Given the description of an element on the screen output the (x, y) to click on. 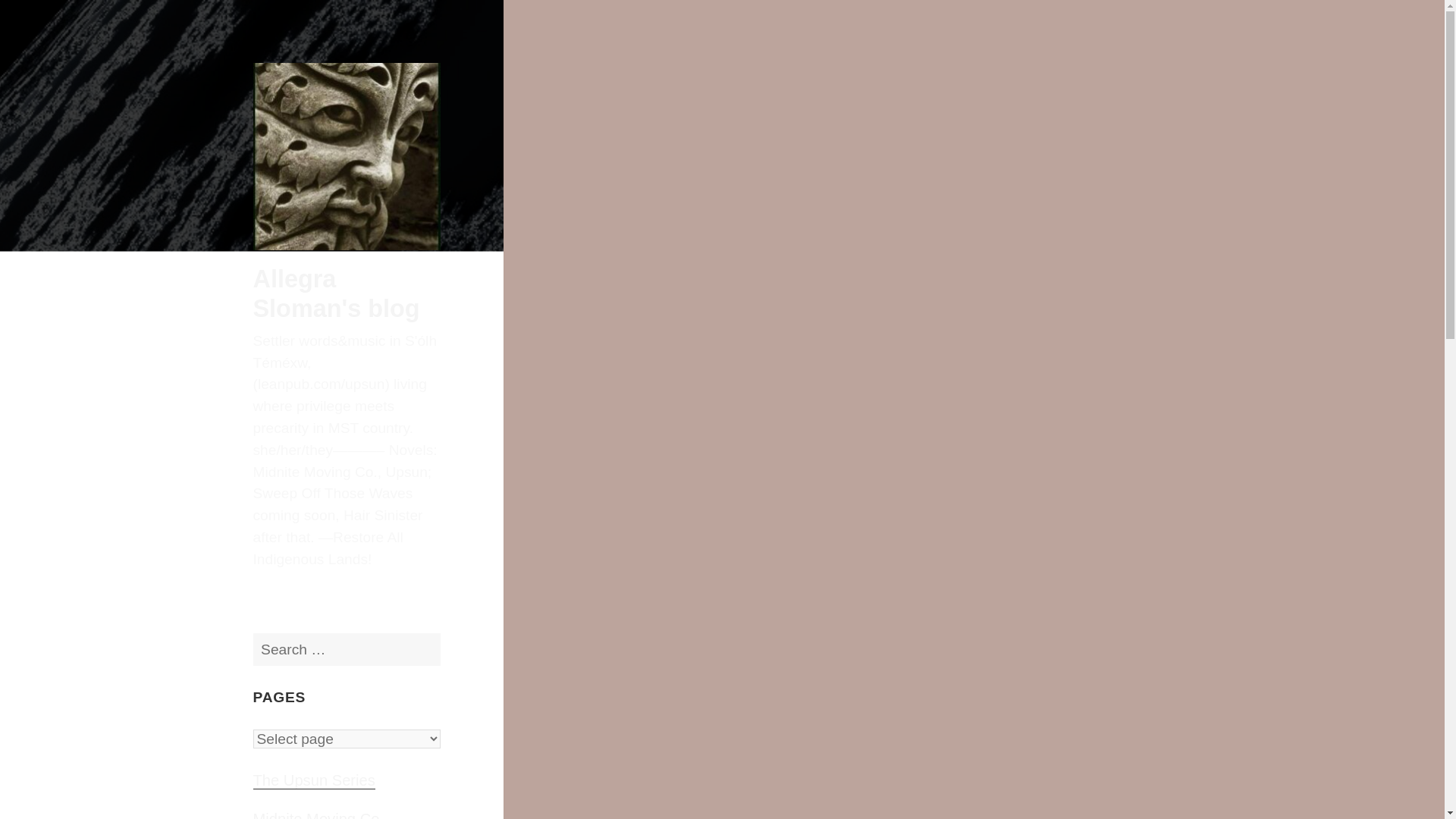
Midnite Moving Co (316, 815)
Allegra Sloman's blog (336, 293)
The Upsun Series (314, 781)
